Given the description of an element on the screen output the (x, y) to click on. 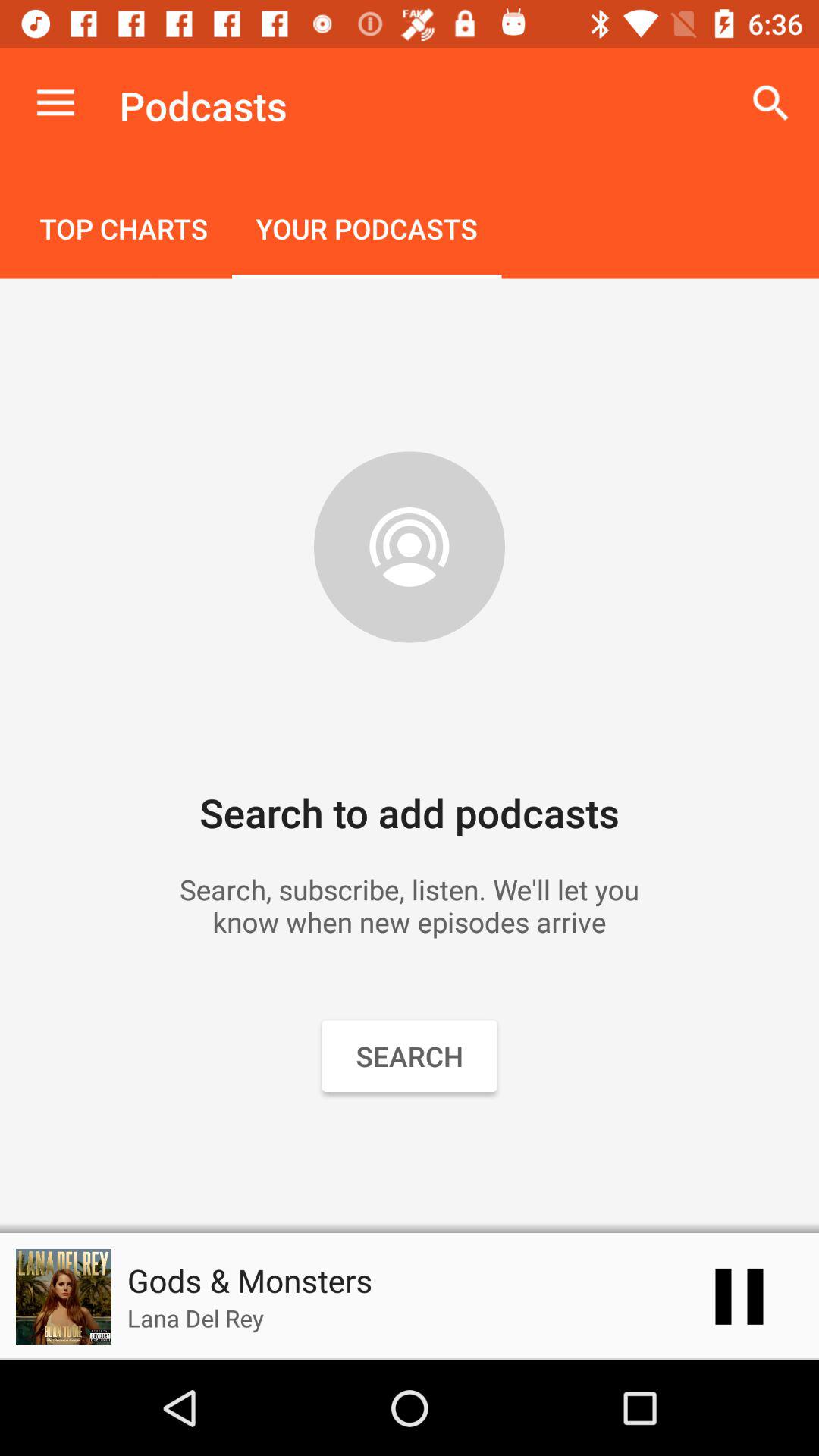
click the item next to the podcasts (55, 103)
